Given the description of an element on the screen output the (x, y) to click on. 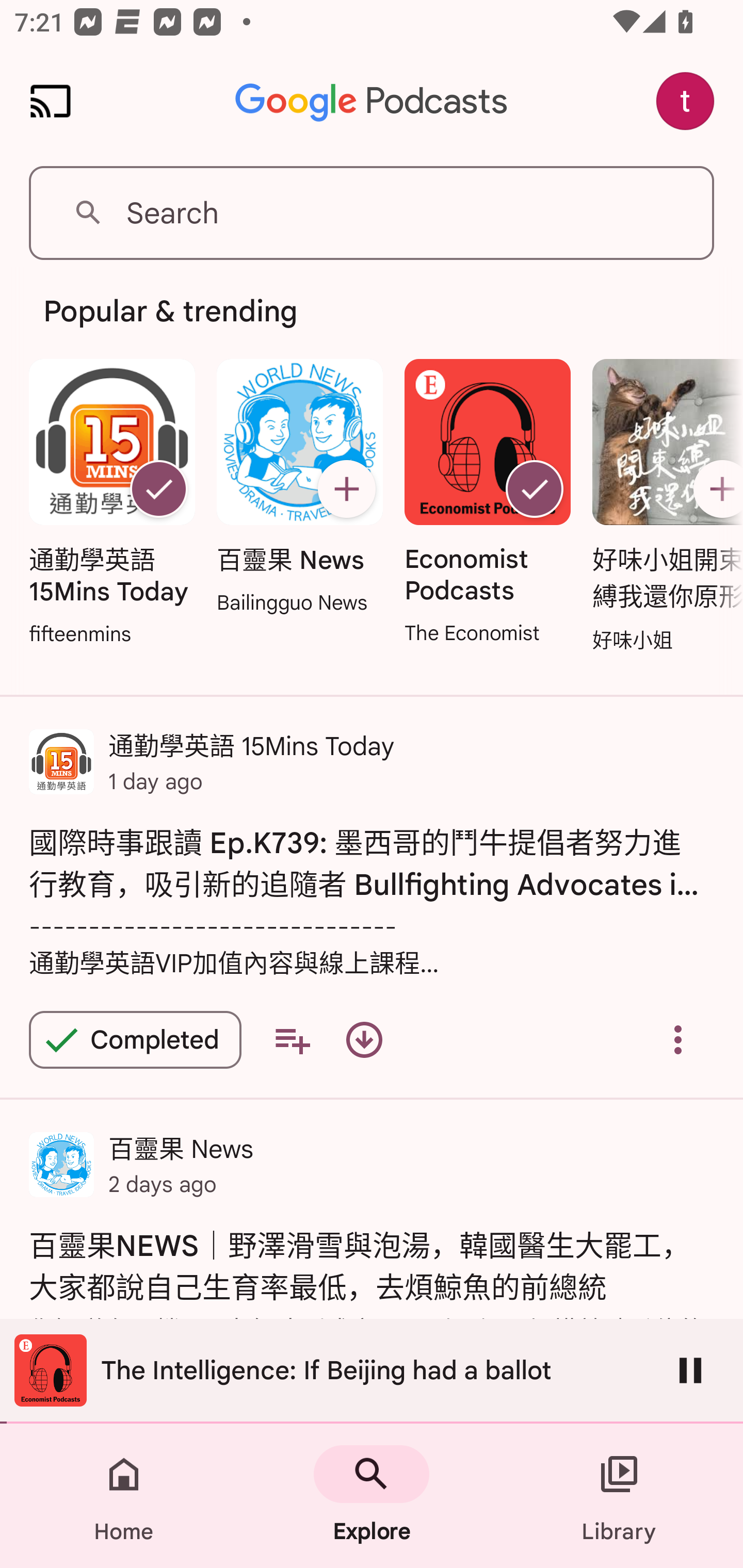
Cast. Disconnected (50, 101)
Search (371, 212)
百靈果 News Subscribe 百靈果 News Bailingguo News (299, 488)
好味小姐開束縛我還你原形 Subscribe 好味小姐開束縛我還你原形 好味小姐 (662, 507)
Unsubscribe (158, 489)
Subscribe (346, 489)
Unsubscribe (534, 489)
Subscribe (714, 489)
Add to your queue (291, 1040)
Download episode (364, 1040)
Overflow menu (677, 1040)
Pause (690, 1370)
Home (123, 1495)
Library (619, 1495)
